Given the description of an element on the screen output the (x, y) to click on. 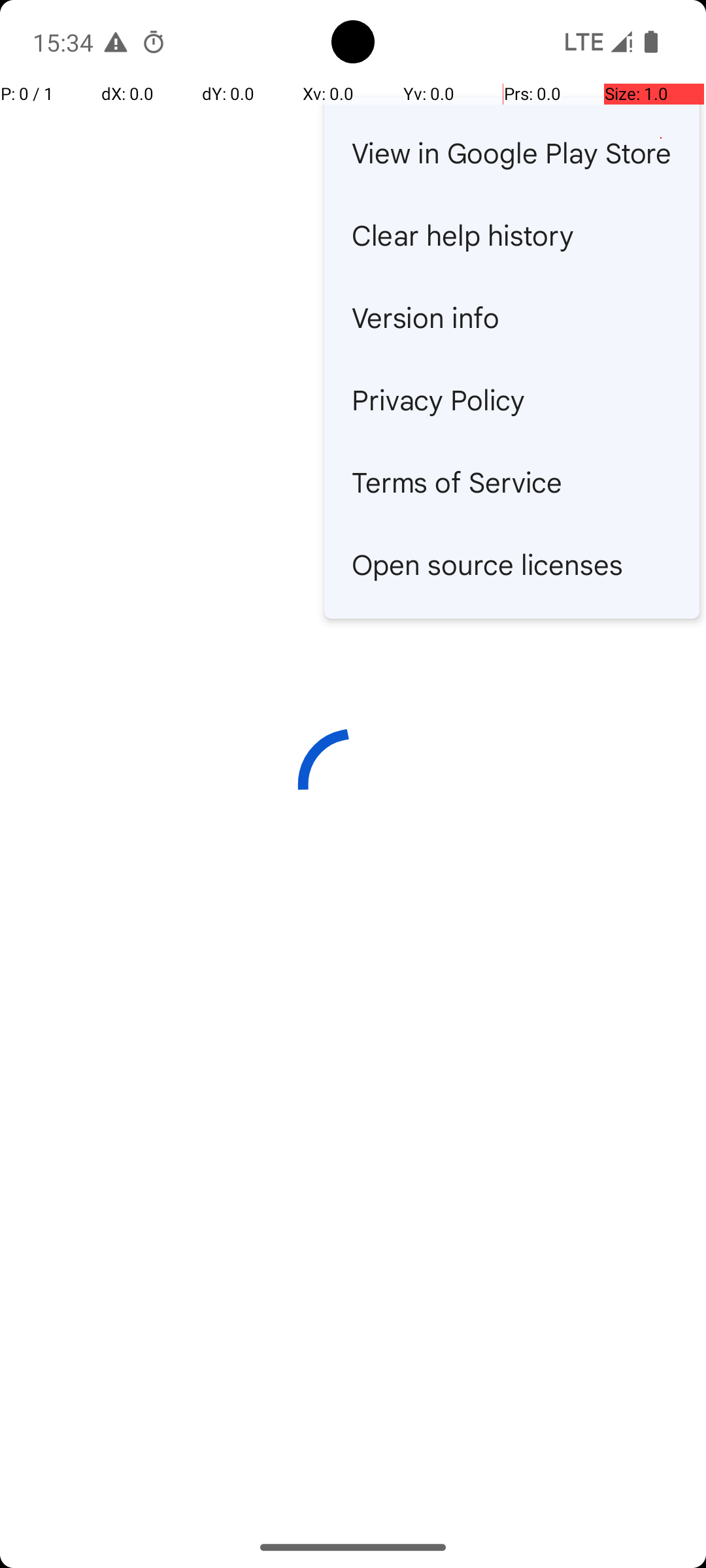
View in Google Play Store Element type: android.widget.TextView (511, 151)
Clear help history Element type: android.widget.TextView (511, 234)
Version info Element type: android.widget.TextView (511, 316)
Privacy Policy Element type: android.widget.TextView (511, 398)
Terms of Service Element type: android.widget.TextView (511, 481)
Open source licenses Element type: android.widget.TextView (511, 563)
